Given the description of an element on the screen output the (x, y) to click on. 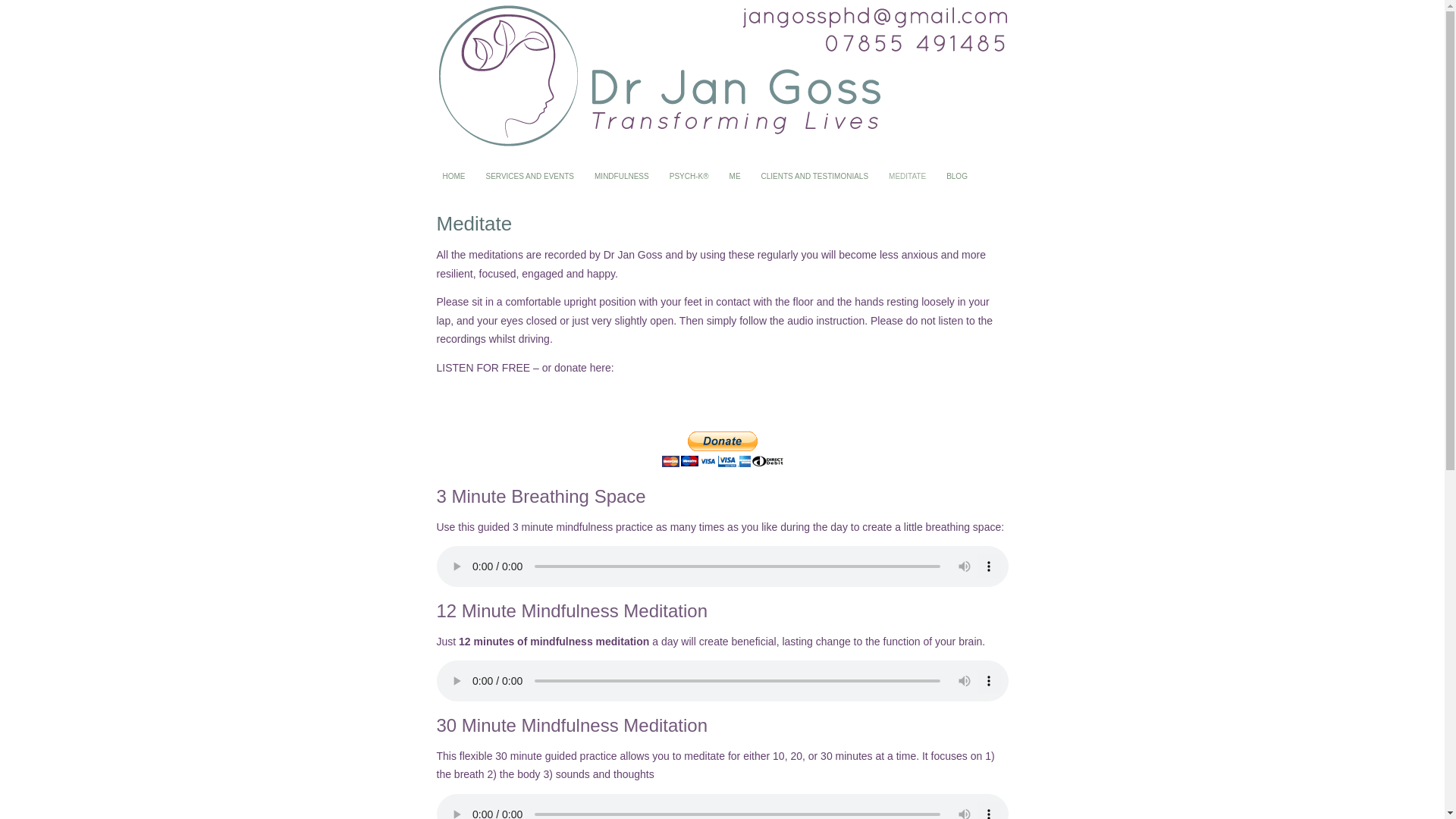
Meditate (907, 176)
MEDITATE (907, 176)
CLIENTS AND TESTIMONIALS (815, 176)
Home (453, 176)
Services and Events (530, 176)
BLOG (956, 176)
HOME (453, 176)
Mindfulness (622, 176)
MINDFULNESS (622, 176)
ME (735, 176)
